Given the description of an element on the screen output the (x, y) to click on. 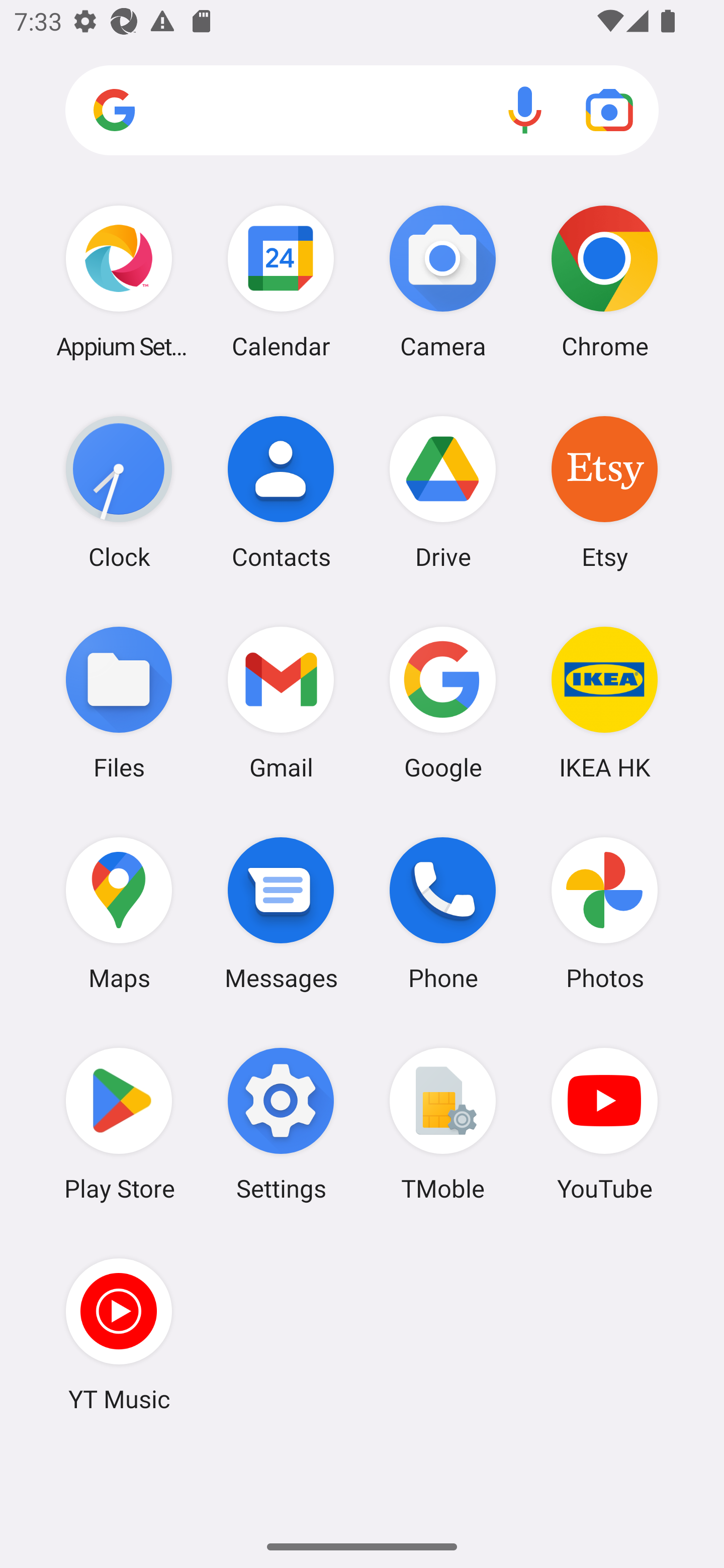
Search apps, web and more (361, 110)
Voice search (524, 109)
Google Lens (608, 109)
Appium Settings (118, 281)
Calendar (280, 281)
Camera (443, 281)
Chrome (604, 281)
Clock (118, 492)
Contacts (280, 492)
Drive (443, 492)
Etsy (604, 492)
Files (118, 702)
Gmail (280, 702)
Google (443, 702)
IKEA HK (604, 702)
Maps (118, 913)
Messages (280, 913)
Phone (443, 913)
Photos (604, 913)
Play Store (118, 1124)
Settings (280, 1124)
TMoble (443, 1124)
YouTube (604, 1124)
YT Music (118, 1334)
